Given the description of an element on the screen output the (x, y) to click on. 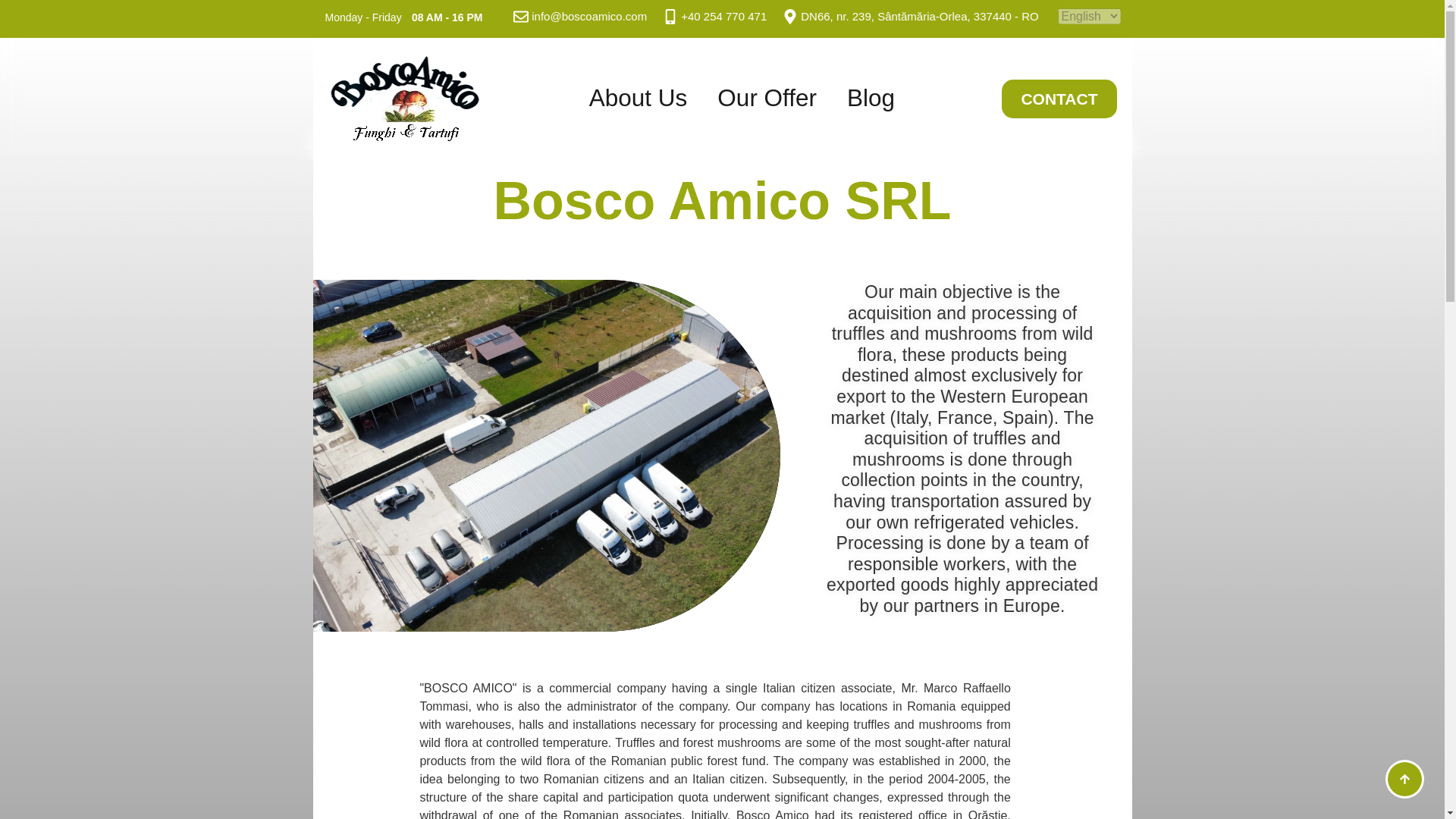
About Us (638, 98)
CONTACT (1058, 97)
Our Offer (766, 98)
Blog (870, 98)
